Given the description of an element on the screen output the (x, y) to click on. 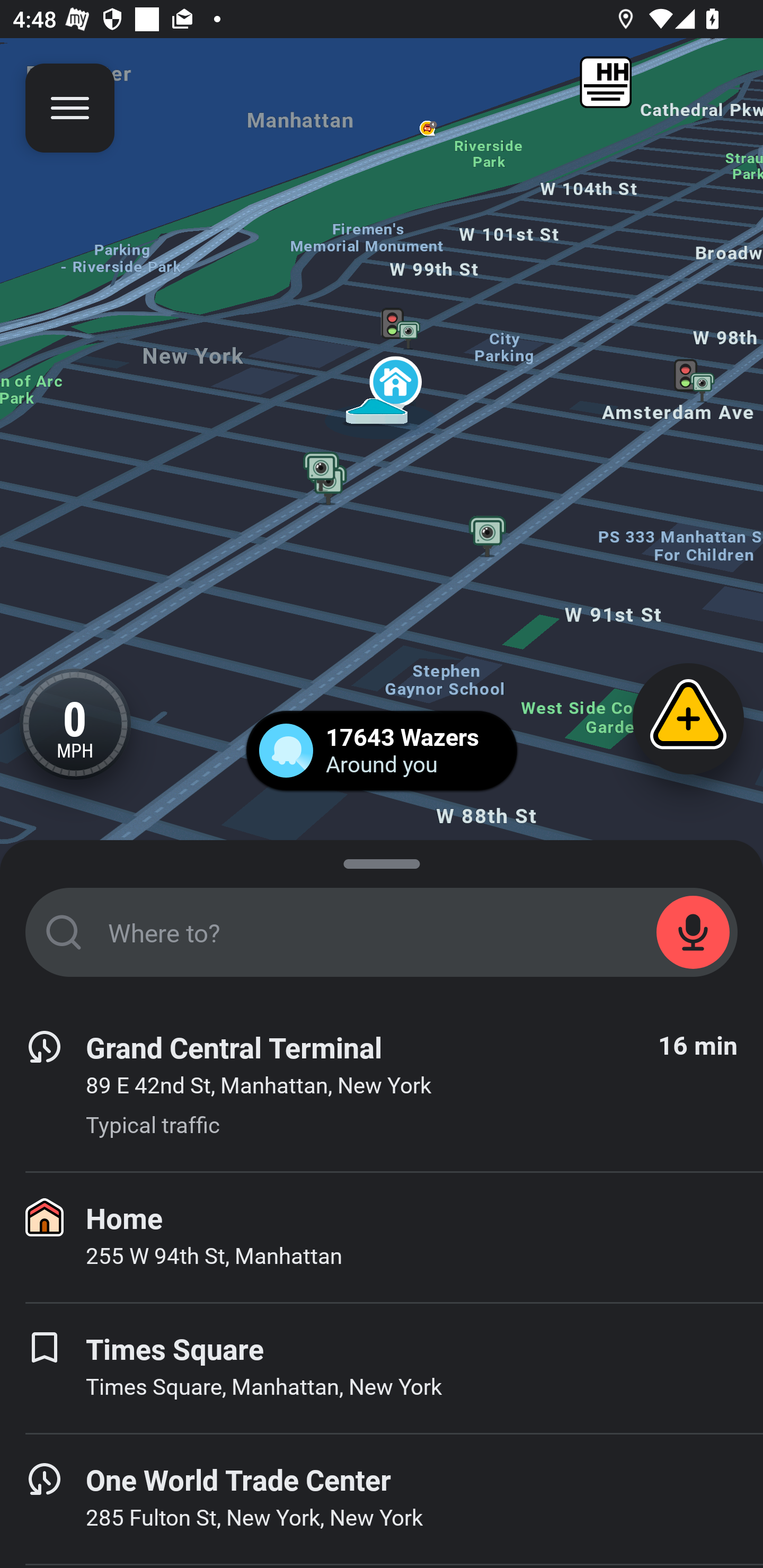
SUGGESTIONS_SHEET_DRAG_HANDLE (381, 860)
START_STATE_SEARCH_FIELD Where to? (381, 931)
Home 255 W 94th St, Manhattan (381, 1236)
Times Square Times Square, Manhattan, New York (381, 1368)
